Given the description of an element on the screen output the (x, y) to click on. 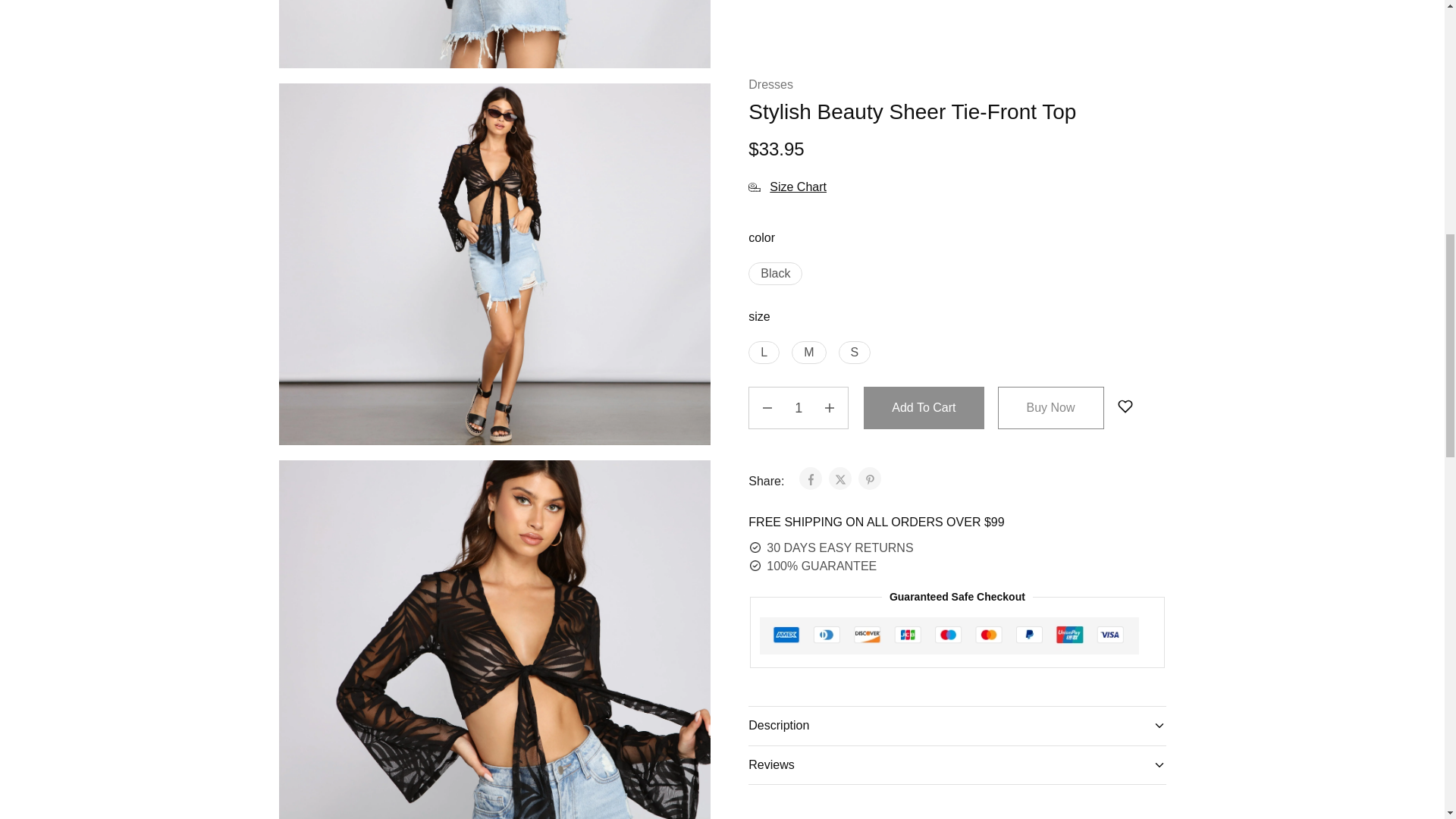
Stylish Beauty Sheer Tie-Front Top (495, 33)
Reviews (957, 18)
